Given the description of an element on the screen output the (x, y) to click on. 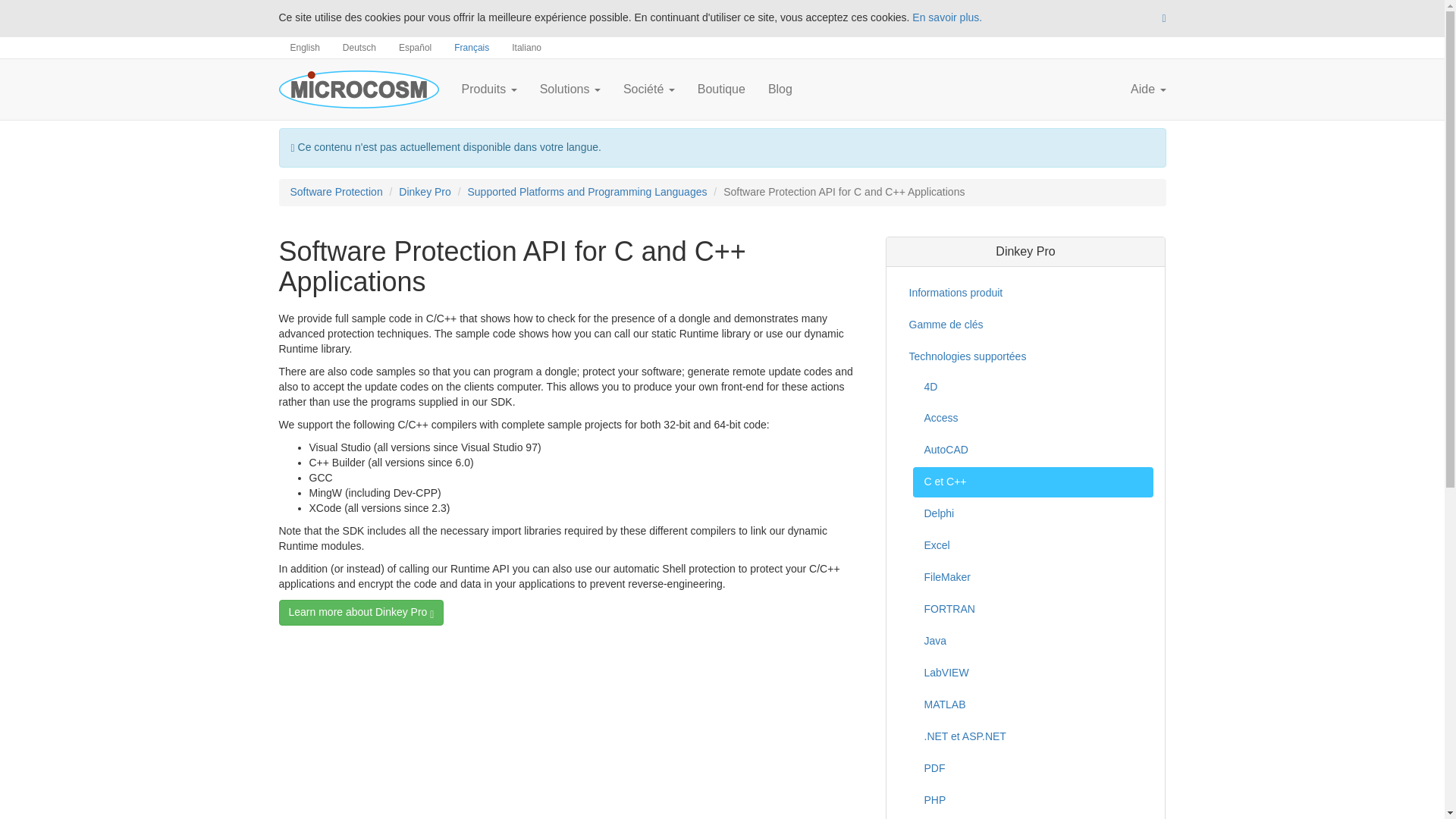
Deutsch (359, 47)
English (305, 47)
Solutions (569, 88)
Italiano (526, 47)
Produits (488, 88)
En savoir plus. (946, 17)
